Given the description of an element on the screen output the (x, y) to click on. 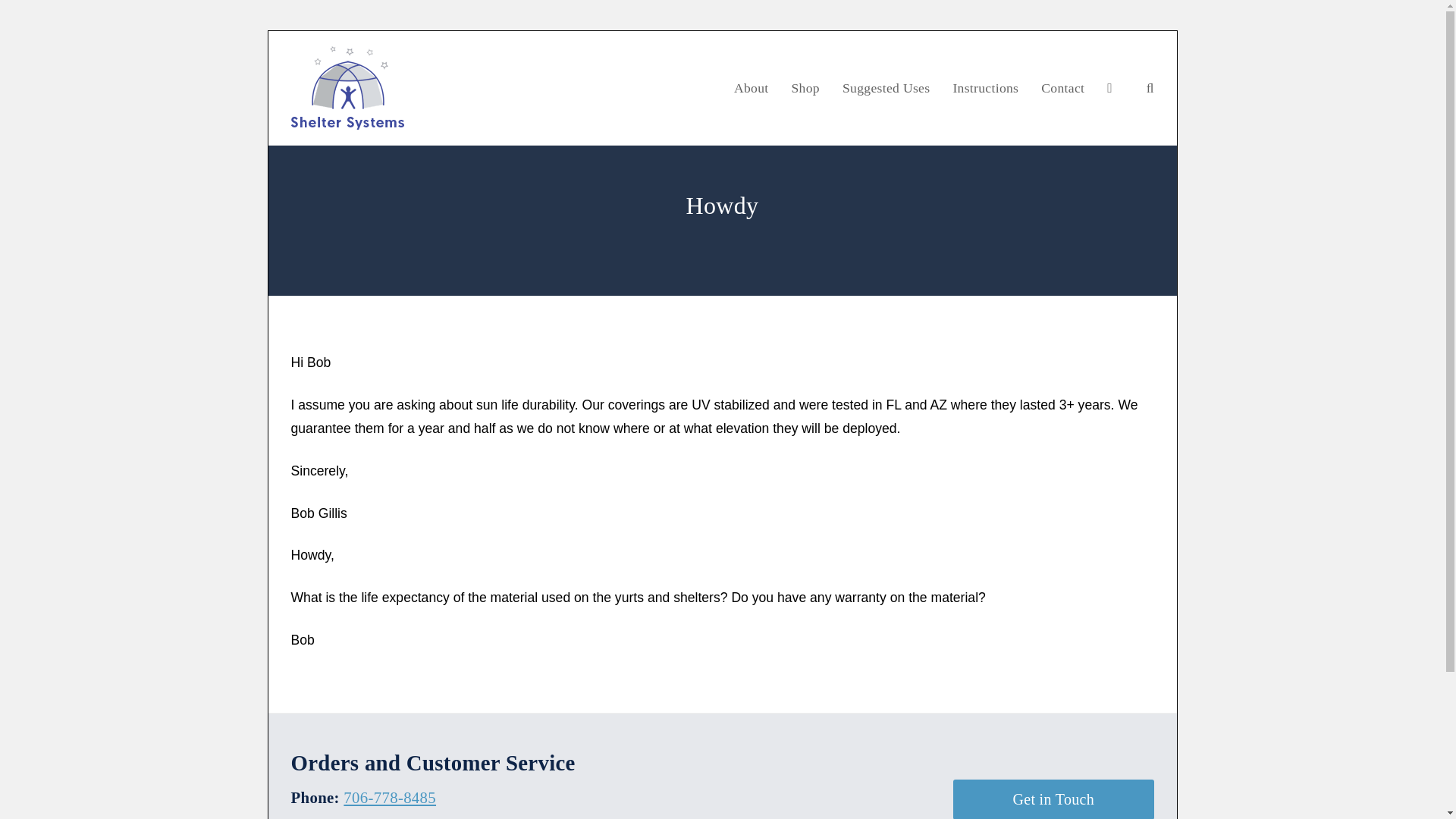
Shop (803, 87)
About (751, 87)
Suggested Uses (885, 87)
Instructions (984, 87)
